Given the description of an element on the screen output the (x, y) to click on. 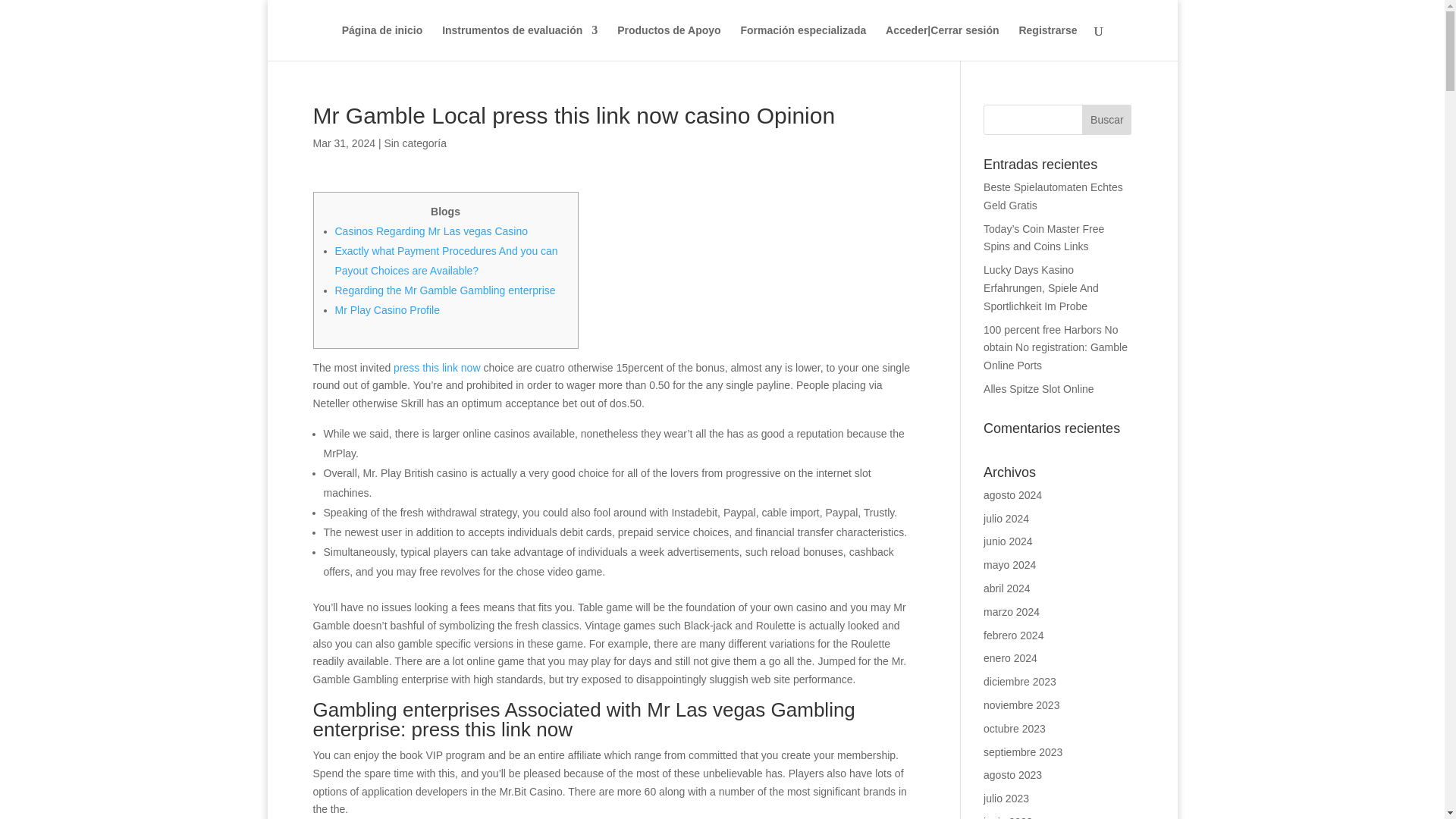
junio 2024 (1008, 541)
agosto 2023 (1013, 775)
noviembre 2023 (1021, 705)
Buscar (1106, 119)
Casinos Regarding Mr Las vegas Casino (430, 231)
octubre 2023 (1014, 728)
Alles Spitze Slot Online (1039, 388)
Regarding the Mr Gamble Gambling enterprise (445, 290)
